Given the description of an element on the screen output the (x, y) to click on. 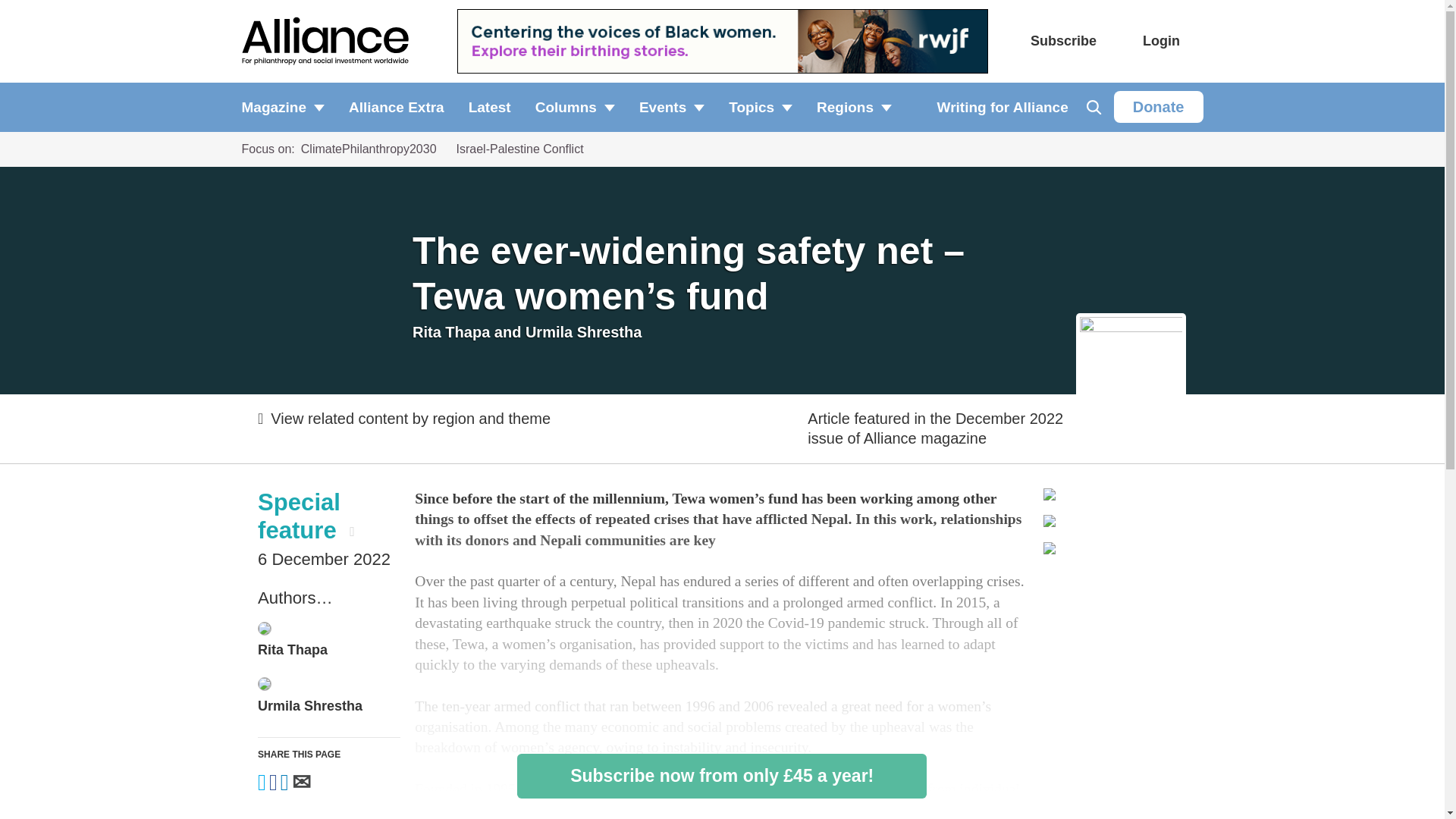
Donate (1158, 106)
Topics (760, 106)
Latest (489, 106)
Search (1094, 106)
Subscribe (1063, 40)
Alliance Extra (396, 106)
Login (1160, 40)
Events (671, 106)
Columns (574, 106)
Magazine (288, 106)
